Given the description of an element on the screen output the (x, y) to click on. 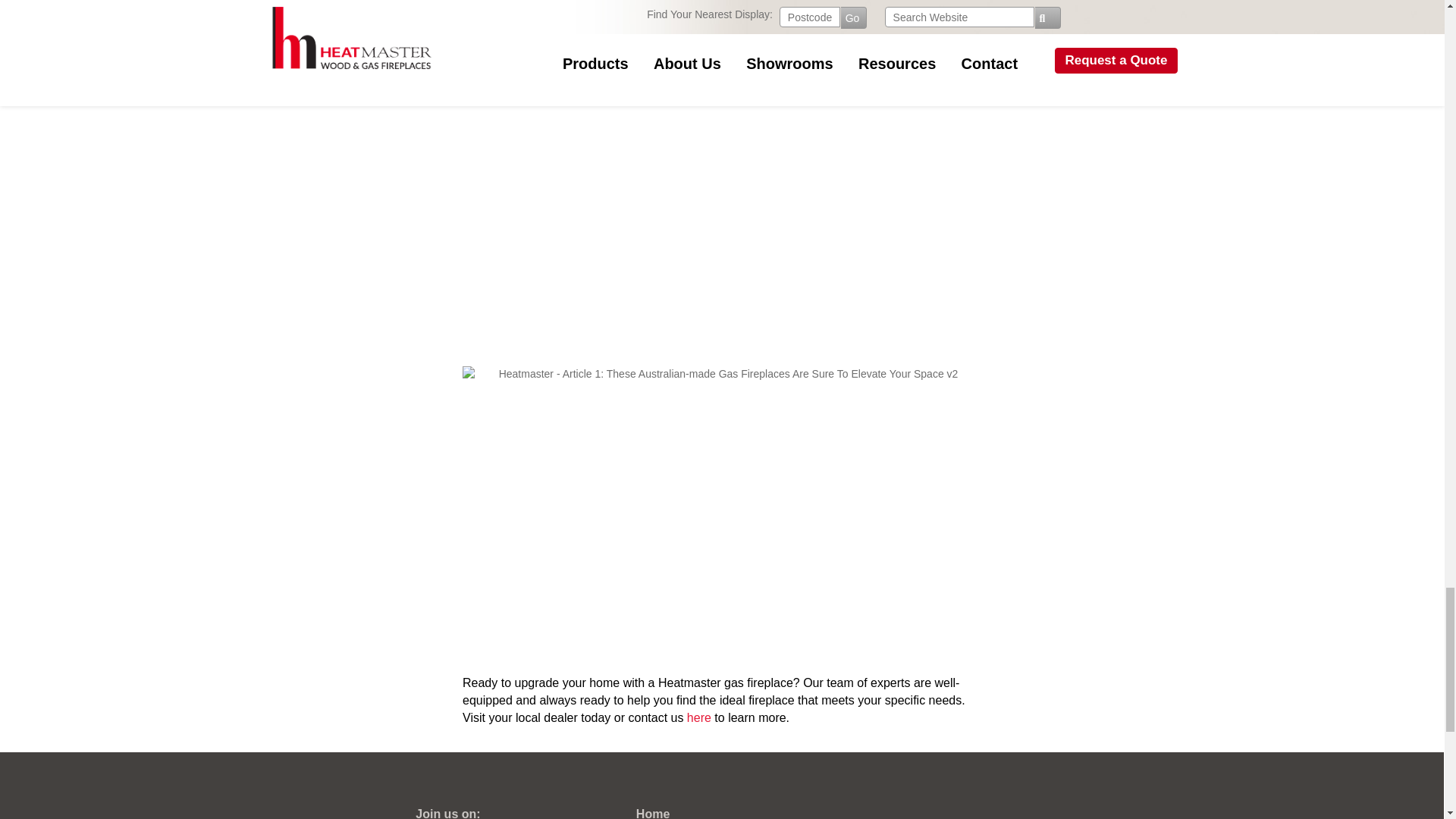
Home (652, 813)
here (699, 717)
